Given the description of an element on the screen output the (x, y) to click on. 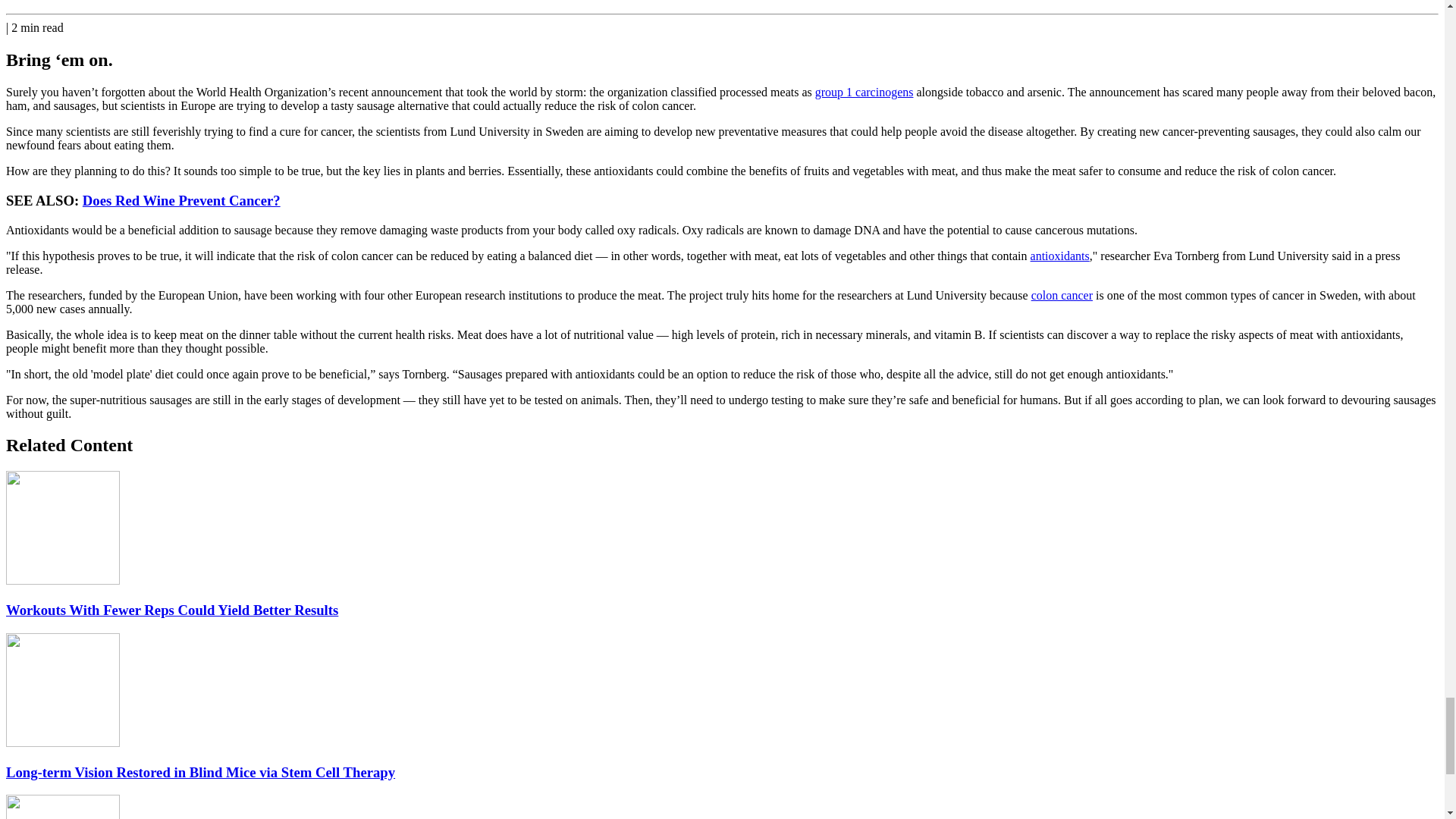
group 1 carcinogens (864, 91)
Full Profile (62, 0)
colon cancer (1061, 295)
Bacon and Hot Dogs Could Cause Cancer, WHO Warns (864, 91)
Sausages with antioxidants from berries to prevent cancer (1059, 255)
Does Red Wine Prevent Cancer? (181, 200)
Does Red Wine Prevent Cancer? (181, 200)
antioxidants (1059, 255)
